Given the description of an element on the screen output the (x, y) to click on. 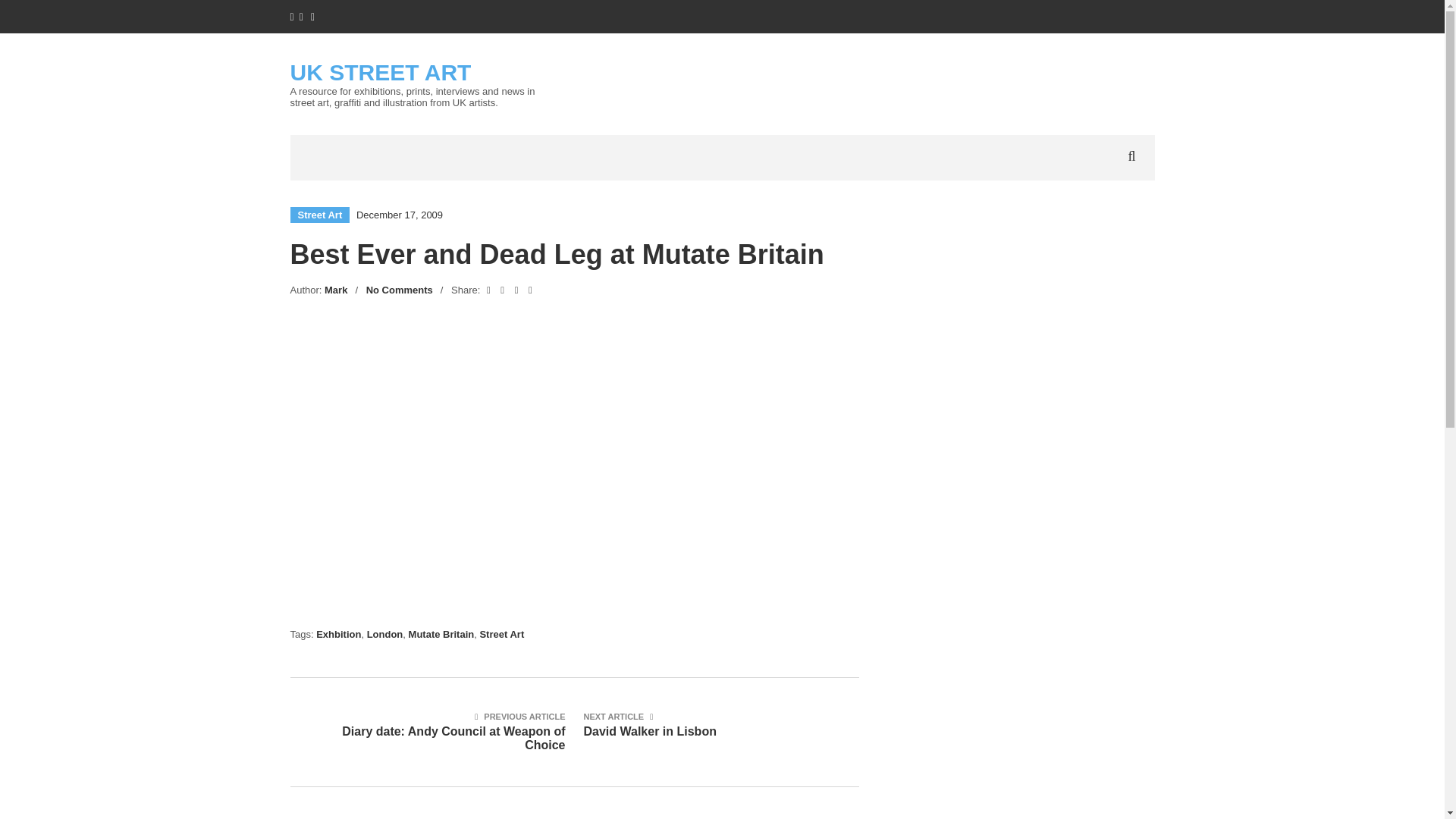
UK STREET ART (379, 72)
No Comments (399, 289)
Mutate Britain (441, 633)
London (384, 633)
Exhbition (338, 633)
Posts by Mark (335, 289)
Street Art (319, 214)
Mark (335, 289)
